Given the description of an element on the screen output the (x, y) to click on. 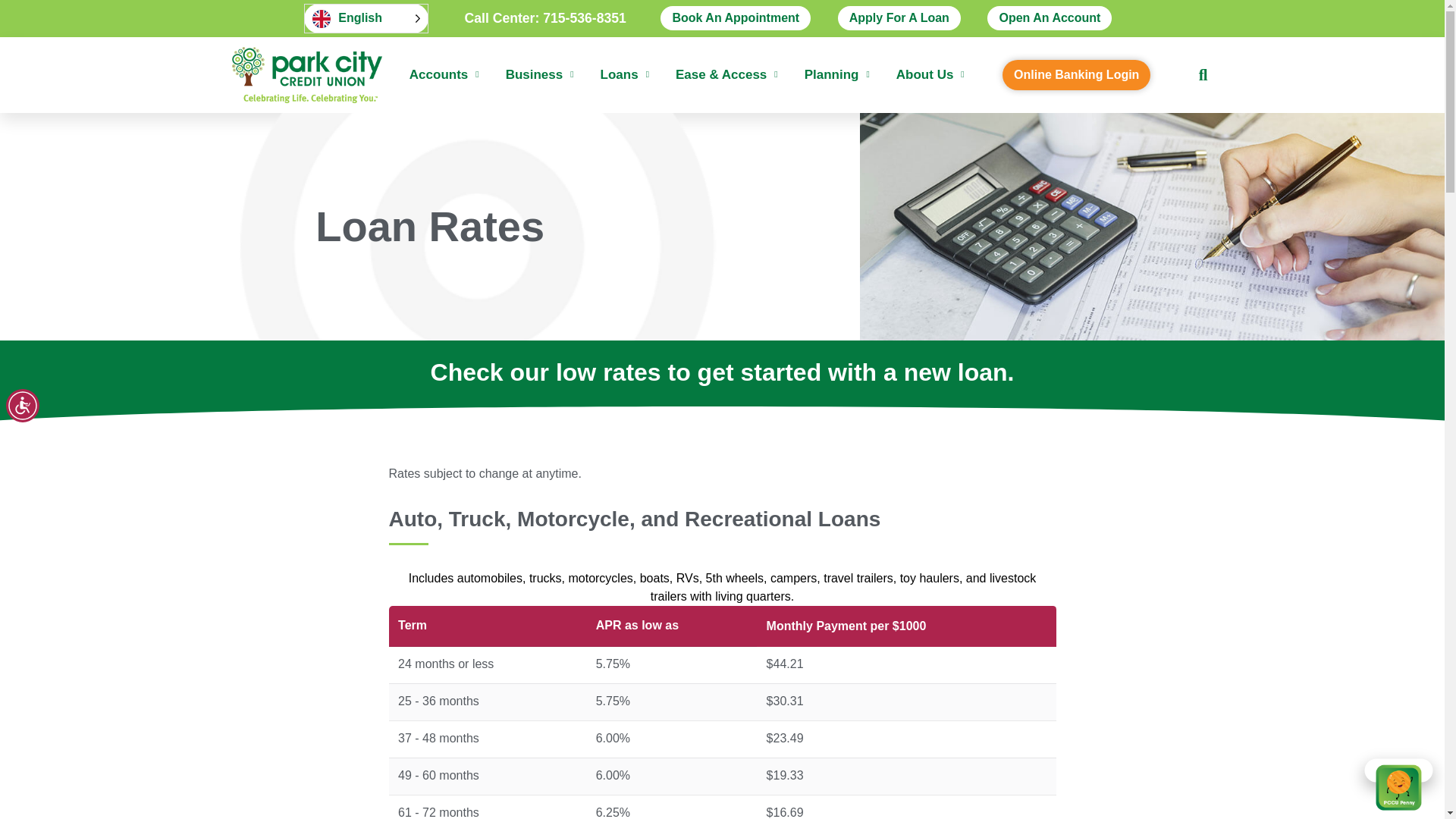
Call Center: 715-536-8351 (545, 17)
Apply For A Loan (899, 17)
Loans (624, 74)
Accessibility Menu (22, 405)
Accounts (444, 74)
Business (539, 74)
Open An Account (1049, 17)
Book An Appointment (735, 17)
